Given the description of an element on the screen output the (x, y) to click on. 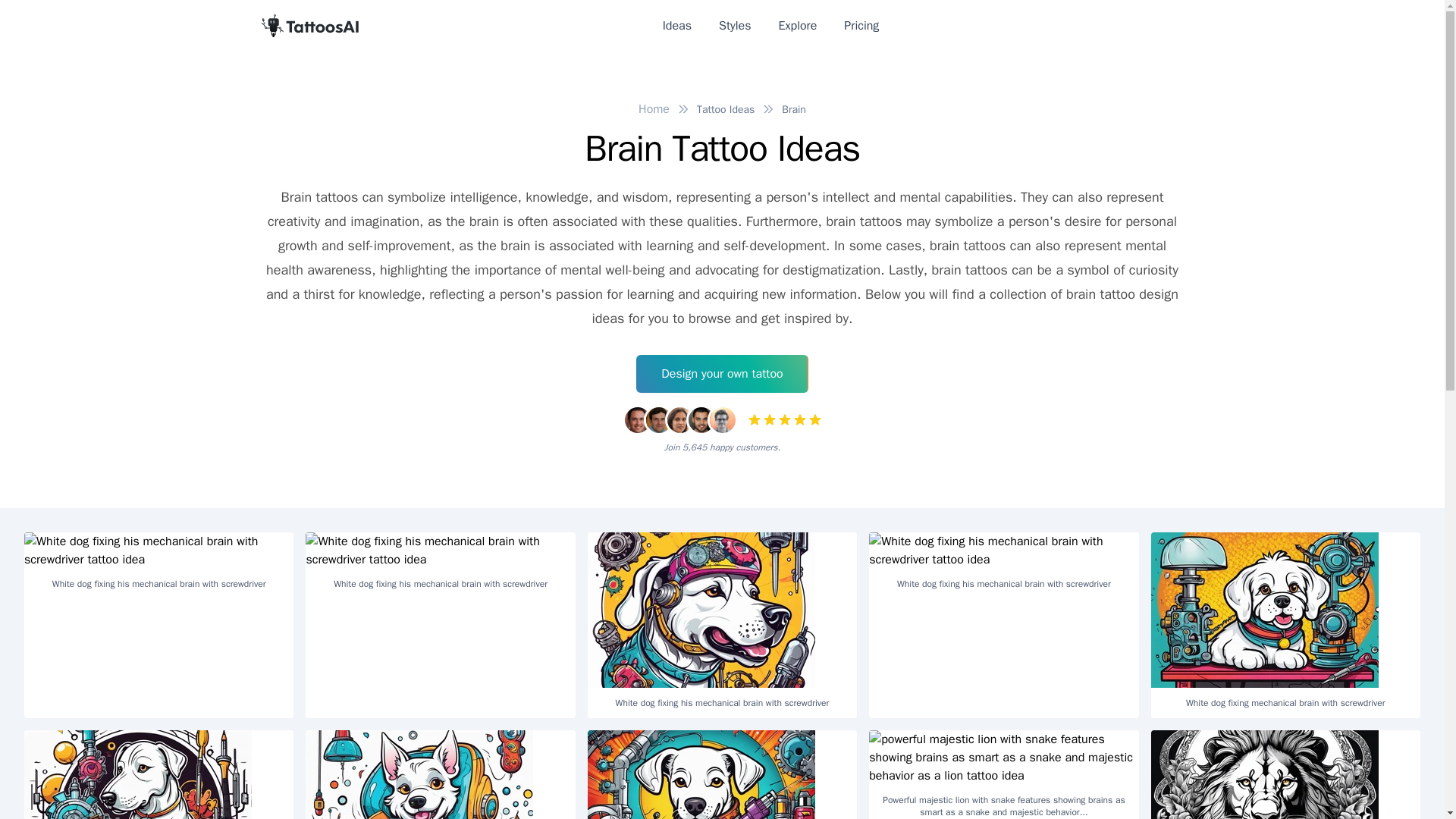
White dog fixing his mechanical brain with screwdriver (440, 565)
White dog fixing his mechanical brain with screwdriver (159, 565)
White dog fixing mechanical brain with screwdriver (1286, 625)
White dog fixing mechanical brain with screwdriver (159, 774)
White dog fixing mechanical brain with screwdriver (440, 774)
Ideas (676, 25)
Pricing (860, 25)
